Given the description of an element on the screen output the (x, y) to click on. 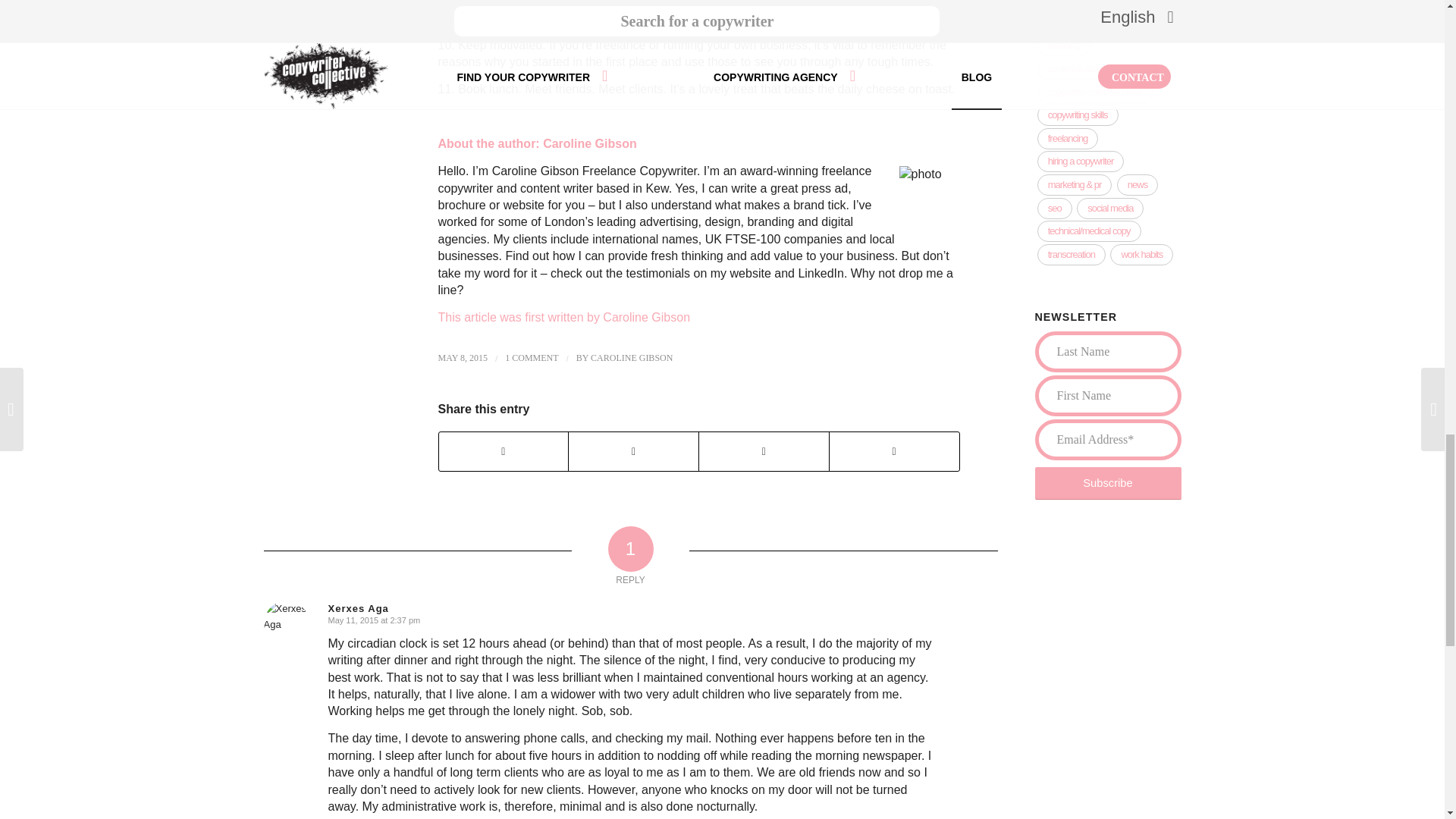
May 11, 2015 at 2:37 pm (373, 619)
This article was first written by Caroline Gibson (564, 317)
Posts by Caroline Gibson (631, 357)
CAROLINE GIBSON (631, 357)
Subscribe (1106, 482)
1 COMMENT (531, 357)
